Given the description of an element on the screen output the (x, y) to click on. 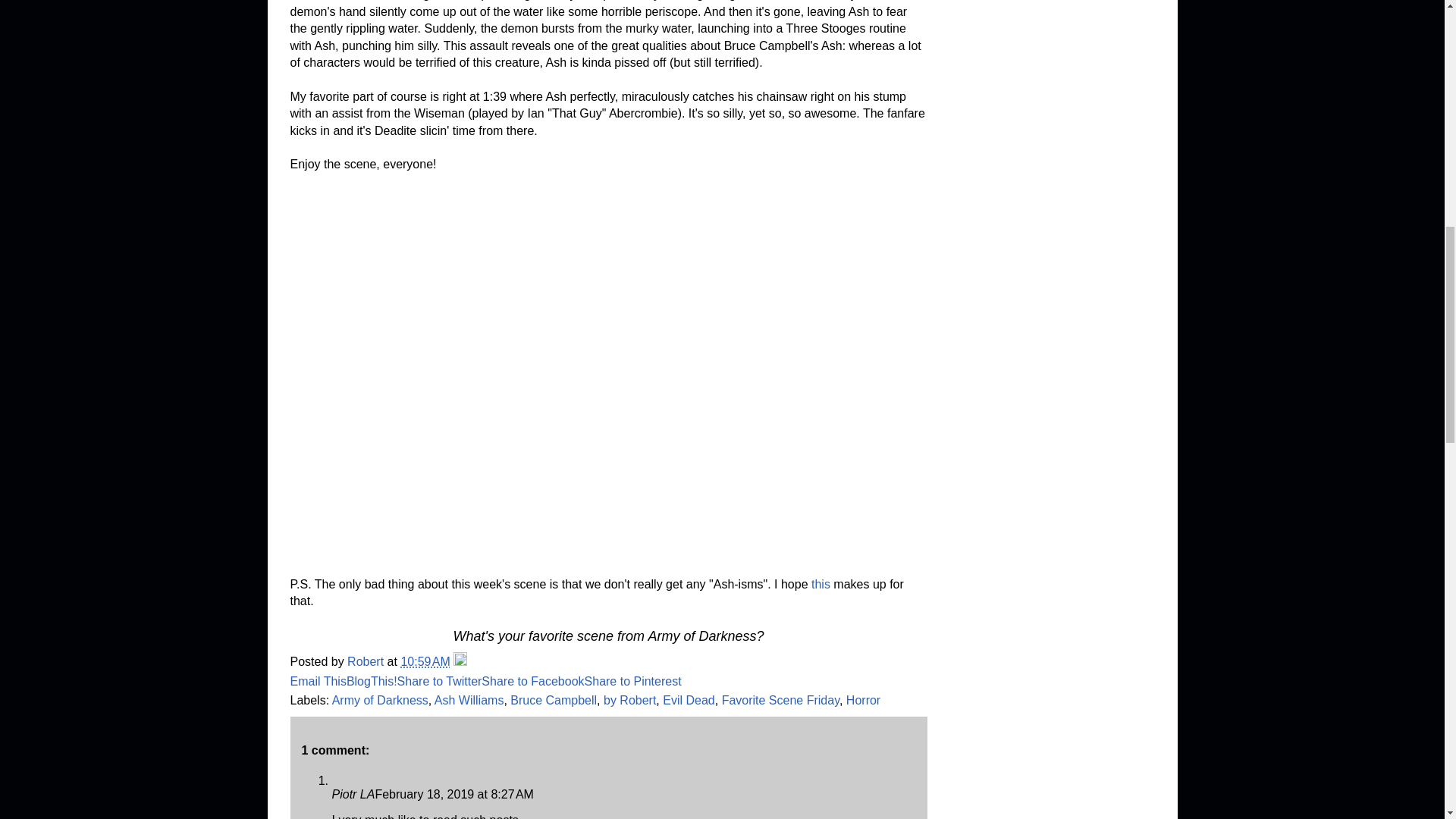
Robert (367, 661)
permanent link (424, 661)
Share to Twitter (439, 680)
Share to Pinterest (633, 680)
Share to Facebook (532, 680)
Bruce Campbell (553, 699)
BlogThis! (371, 680)
author profile (367, 661)
Share to Pinterest (633, 680)
Ash Williams (468, 699)
Favorite Scene Friday (781, 699)
Evil Dead (688, 699)
Horror (862, 699)
